Given the description of an element on the screen output the (x, y) to click on. 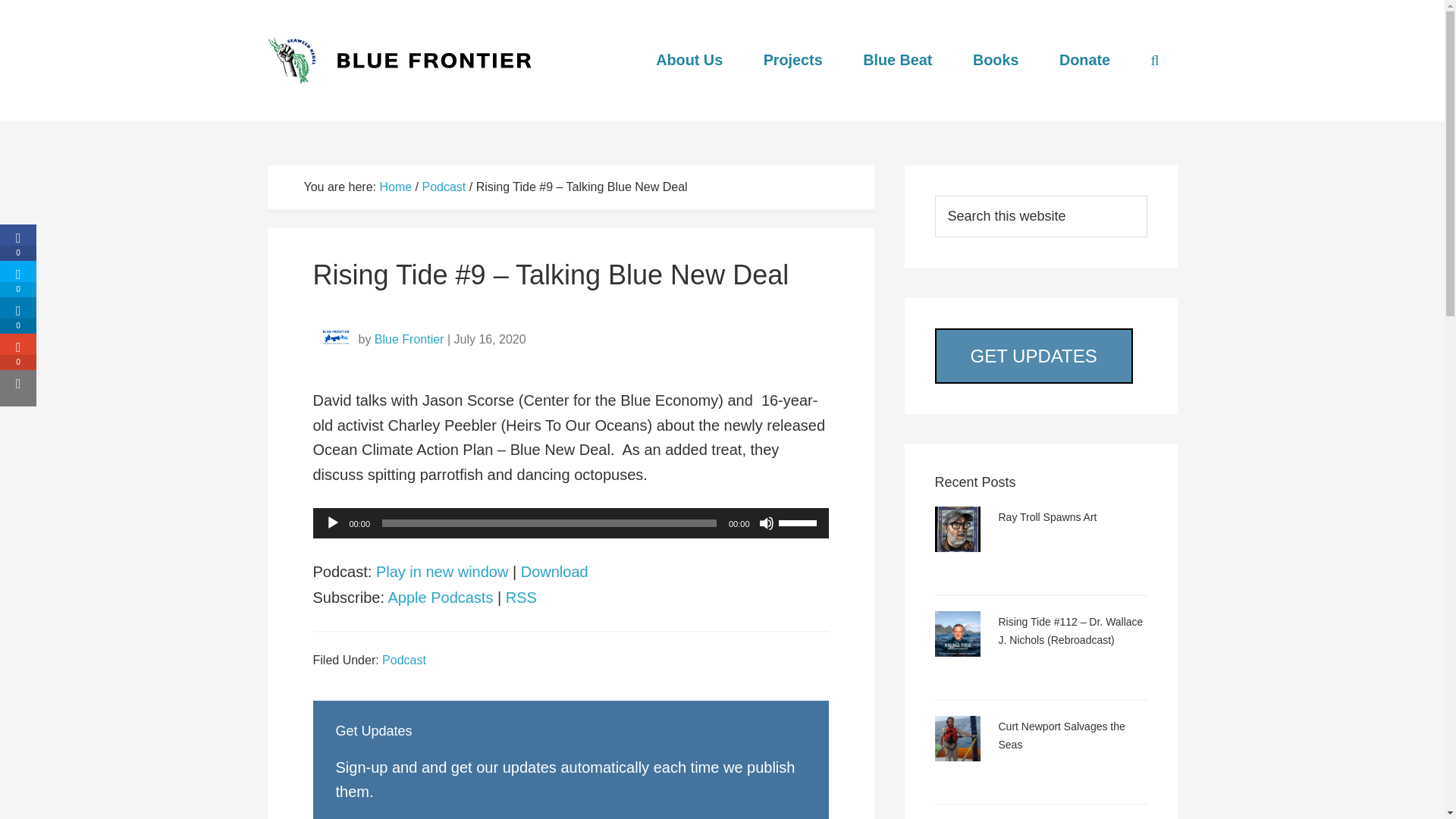
Donate (1084, 60)
Download (554, 571)
Blue Beat (897, 60)
Blue Frontier (409, 338)
Play (331, 522)
Mute (765, 522)
Subscribe on Apple Podcasts (440, 597)
Home (395, 186)
Books (995, 60)
Blue Frontier (403, 60)
Projects (793, 60)
Podcast (443, 186)
